Given the description of an element on the screen output the (x, y) to click on. 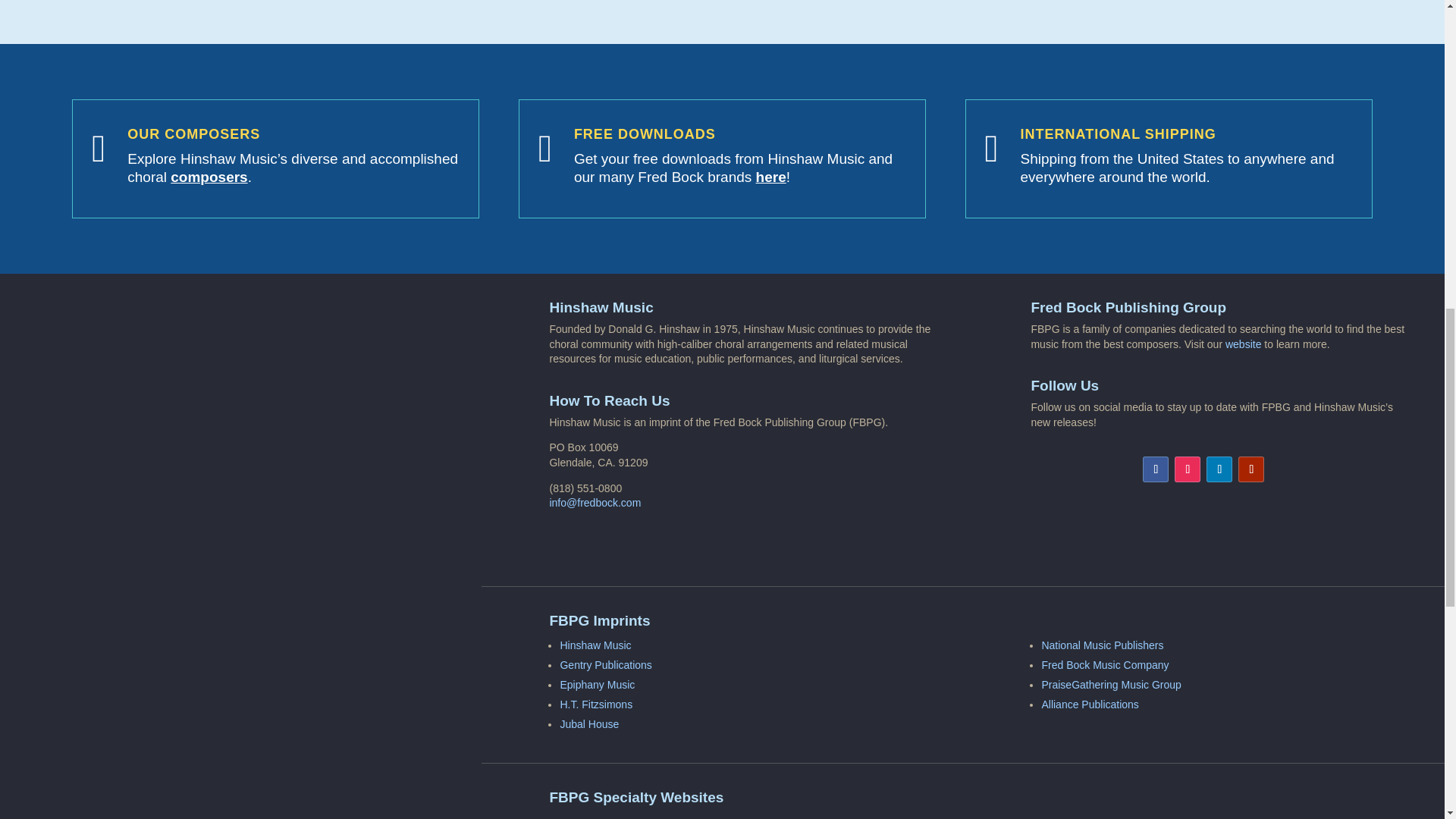
FREE DOWNLOADS (644, 133)
Gentry Publications (604, 664)
composers (208, 176)
Follow on Youtube (1251, 469)
here (770, 176)
Follow on LinkedIn (1219, 469)
Follow on Facebook (1155, 469)
H.T. Fitzsimons (595, 704)
Epiphany Music (596, 684)
OUR COMPOSERS (194, 133)
